Given the description of an element on the screen output the (x, y) to click on. 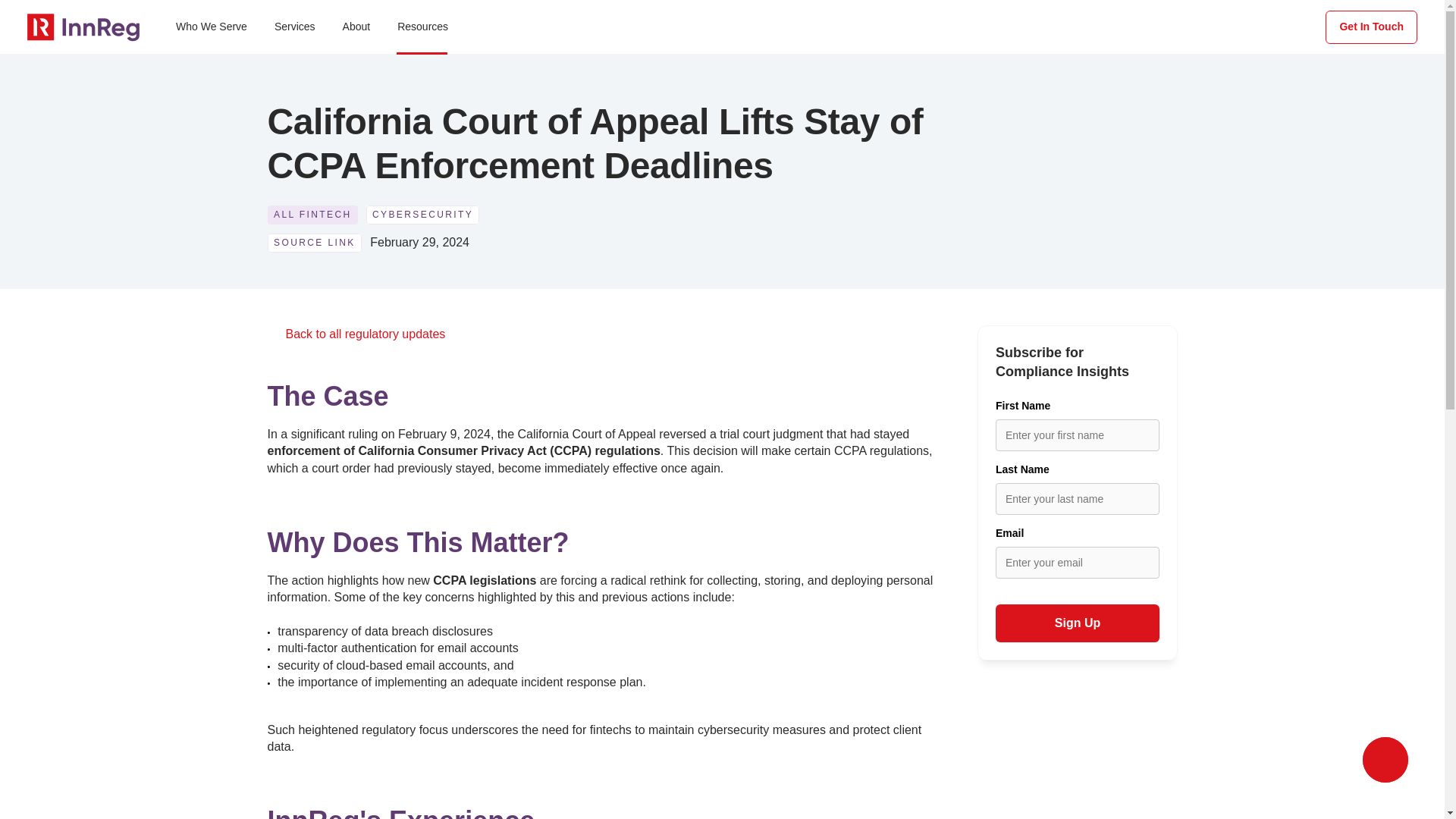
Sign Up (1076, 623)
Back to all regulatory updates (365, 333)
Get In Touch (1370, 27)
CYBERSECURITY (422, 214)
Services (294, 27)
SOURCE LINK (313, 242)
ALL FINTECH (311, 214)
Resources (422, 27)
Who We Serve (211, 27)
